Given the description of an element on the screen output the (x, y) to click on. 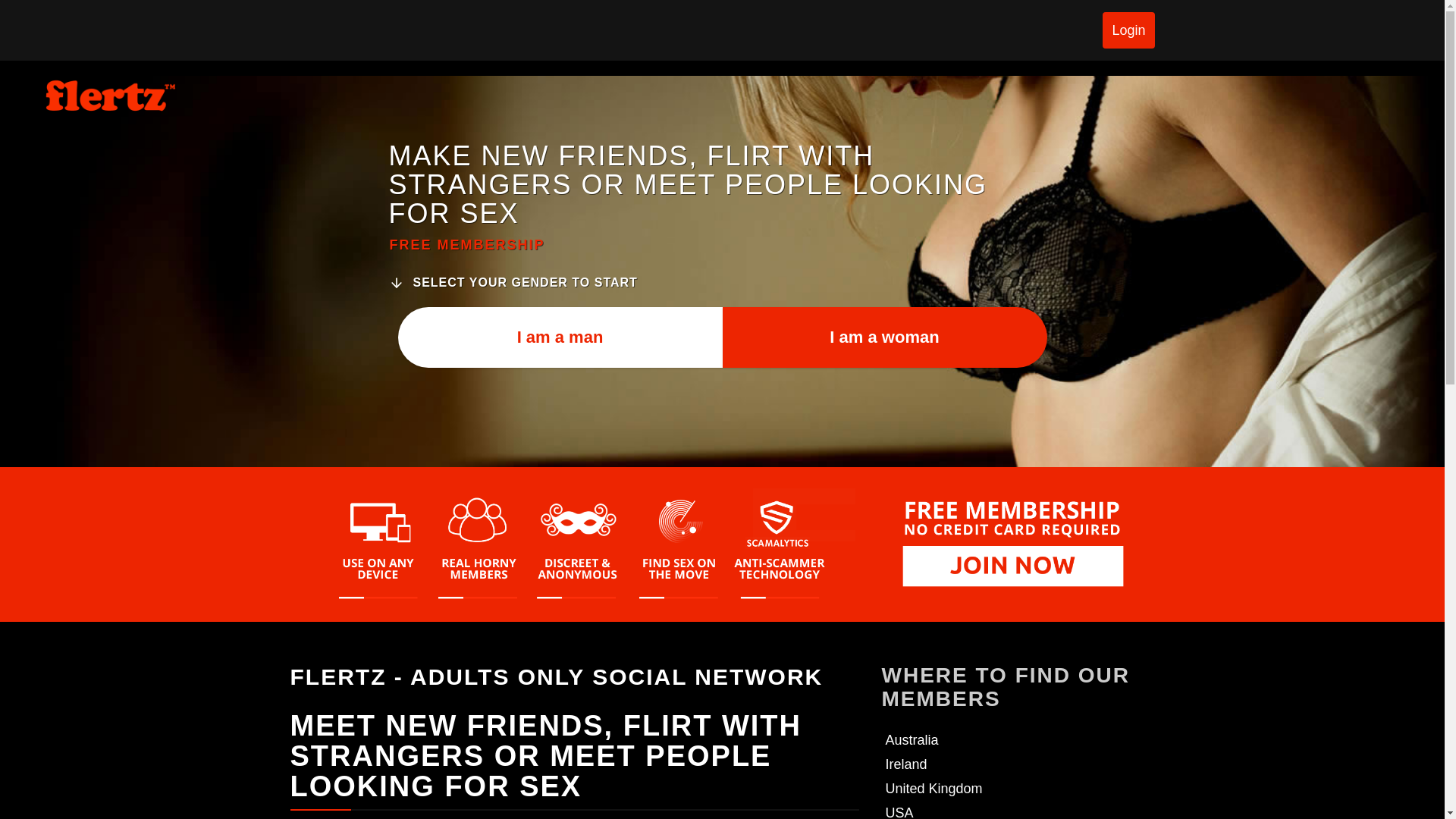
USA (899, 812)
I am a woman (884, 336)
Login (1128, 30)
Australia (912, 739)
Ireland (906, 764)
United Kingdom (933, 788)
I am a man (559, 336)
